Given the description of an element on the screen output the (x, y) to click on. 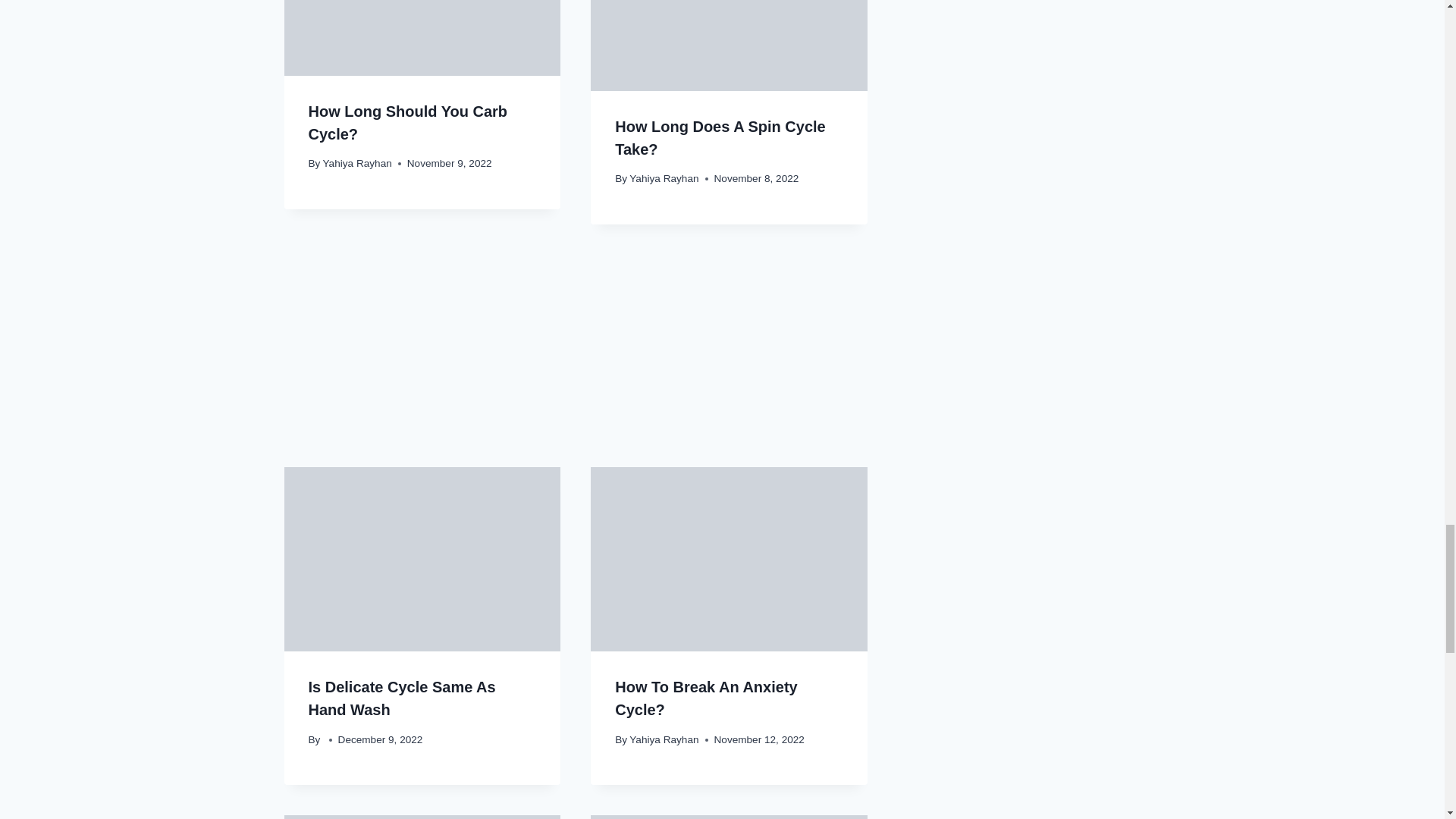
Is Delicate Cycle Same As Hand Wash (401, 698)
How Long Does A Spin Cycle Take? (719, 137)
How Long Should You Carb Cycle? (406, 122)
Yahiya Rayhan (663, 178)
How To Break An Anxiety Cycle? (705, 698)
Yahiya Rayhan (663, 739)
Yahiya Rayhan (357, 163)
